Given the description of an element on the screen output the (x, y) to click on. 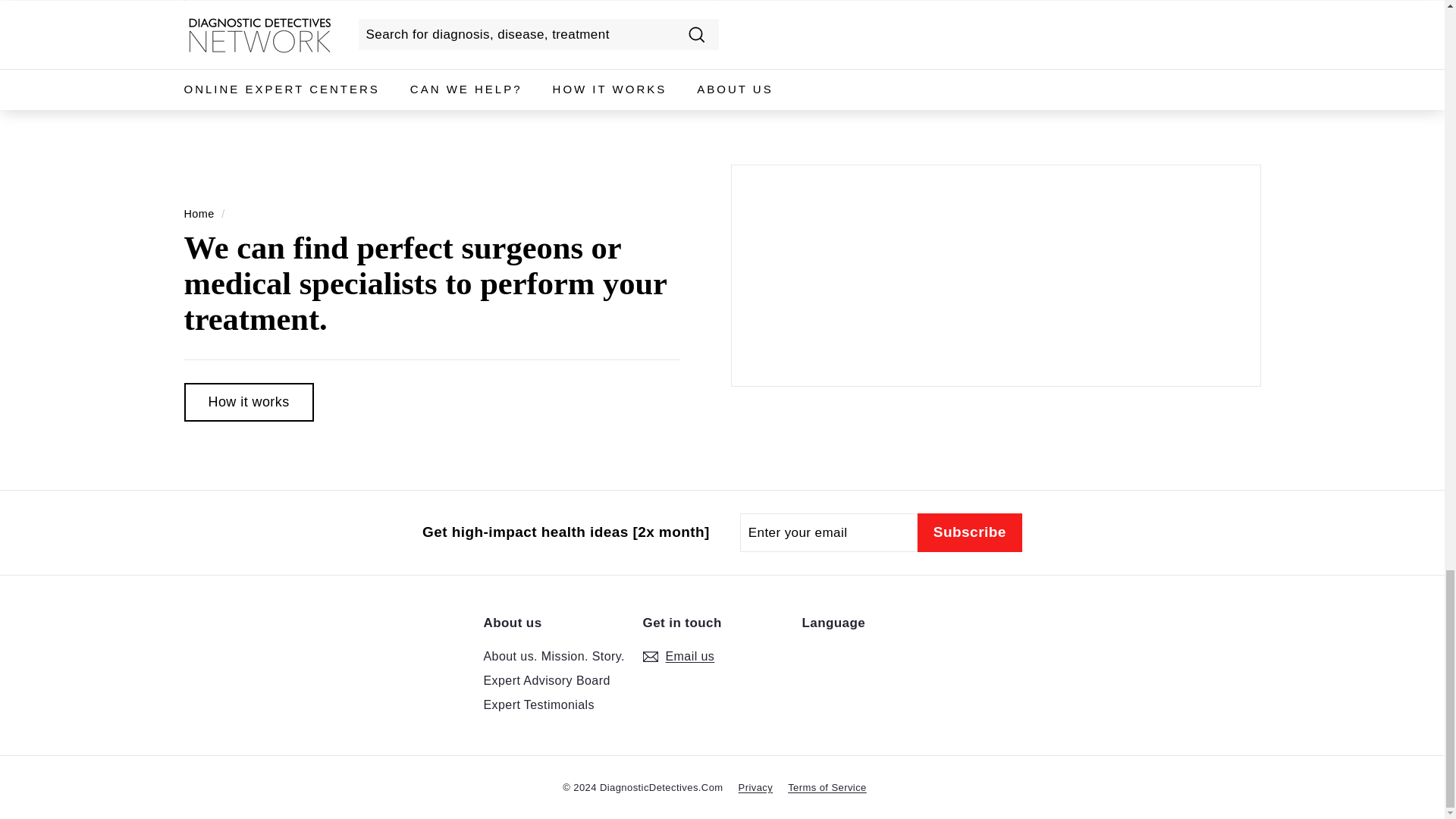
Back to the frontpage (198, 214)
